Given the description of an element on the screen output the (x, y) to click on. 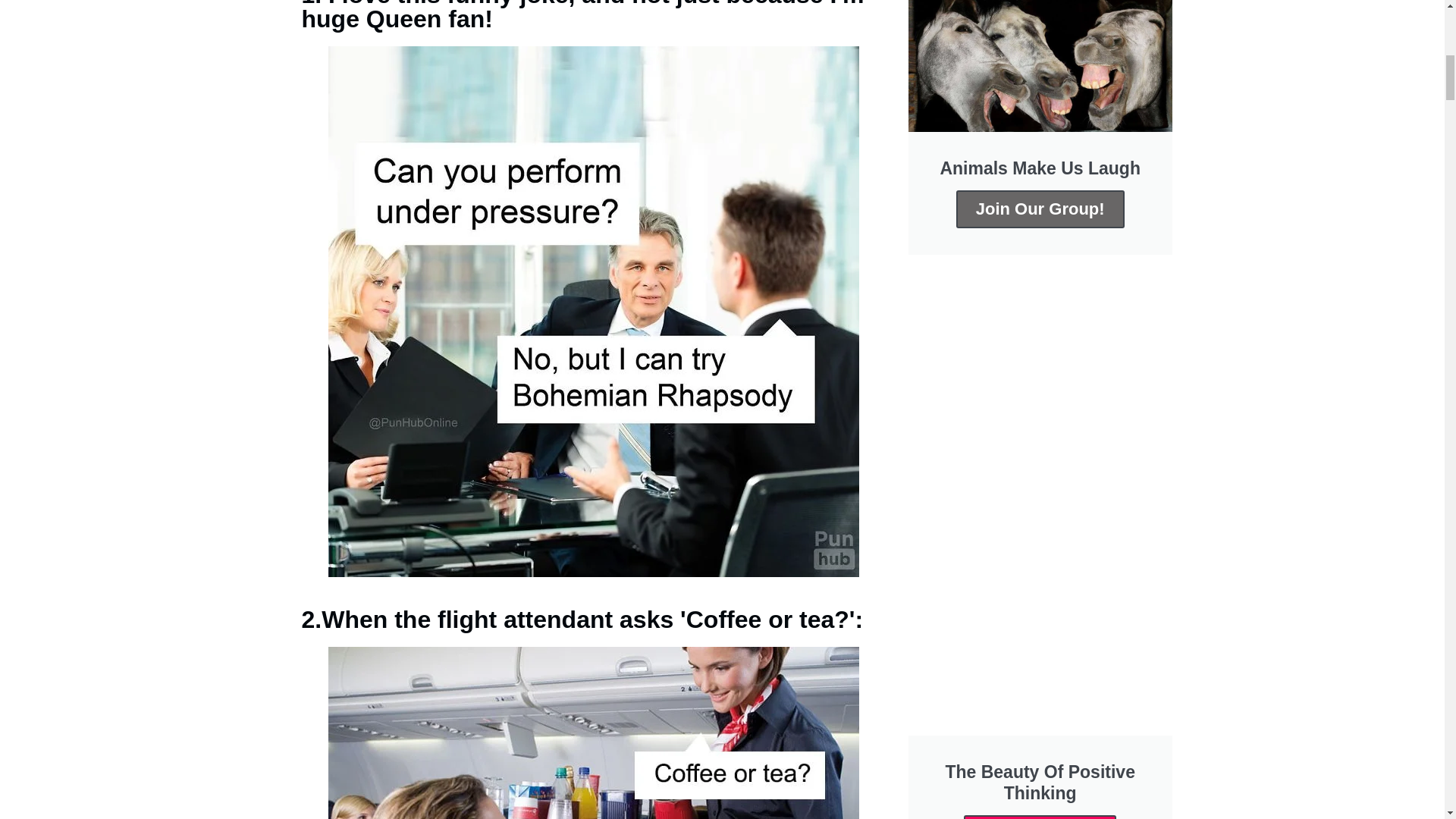
Join Our Group! (1039, 816)
Join Our Group! (1040, 209)
